Given the description of an element on the screen output the (x, y) to click on. 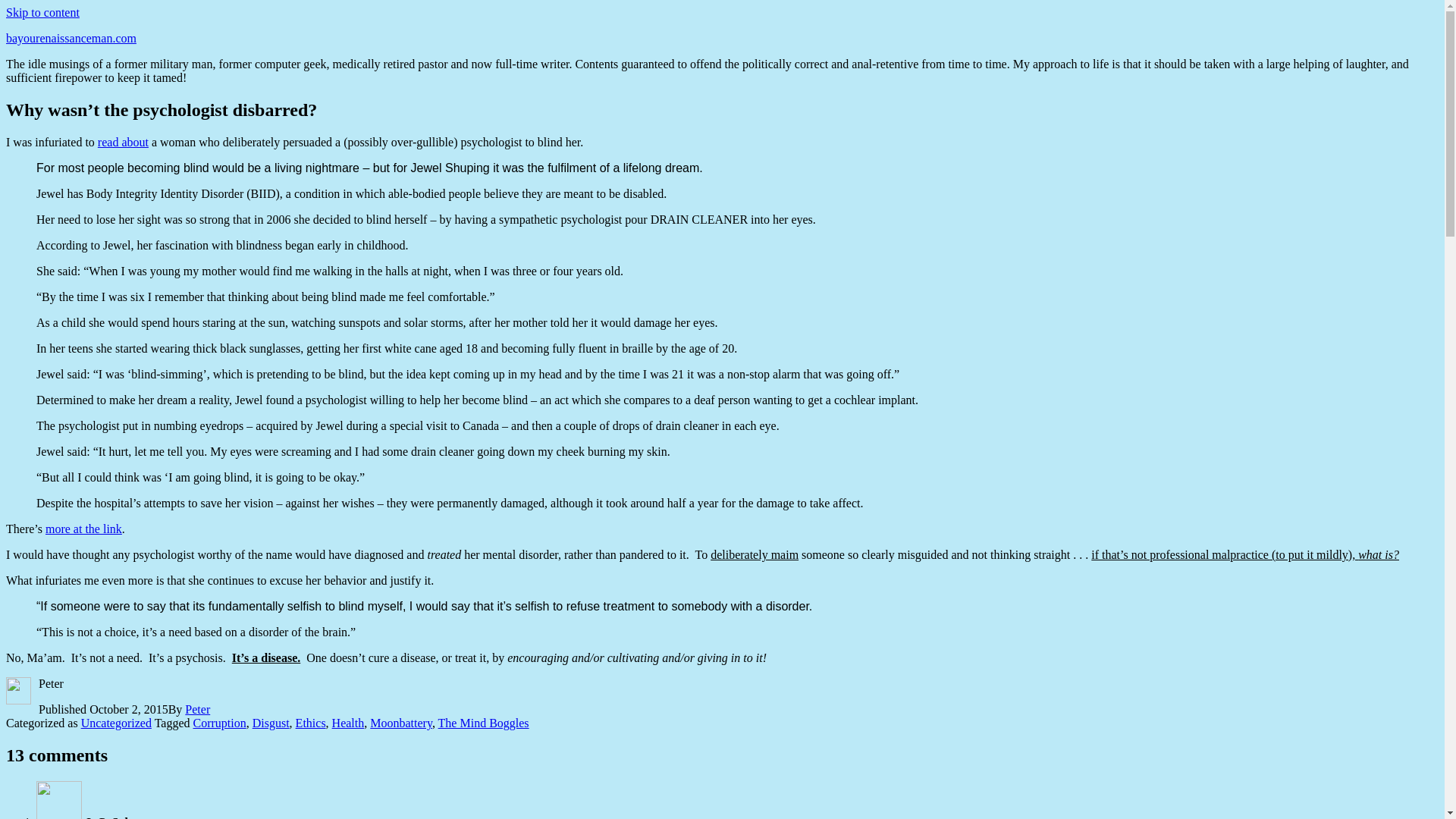
Skip to content (42, 11)
Disgust (270, 722)
Ethics (310, 722)
Uncategorized (116, 722)
Health (348, 722)
more at the link (83, 528)
Corruption (219, 722)
Moonbattery (400, 722)
The Mind Boggles (483, 722)
read about (122, 141)
bayourenaissanceman.com (70, 38)
Peter (196, 708)
